Given the description of an element on the screen output the (x, y) to click on. 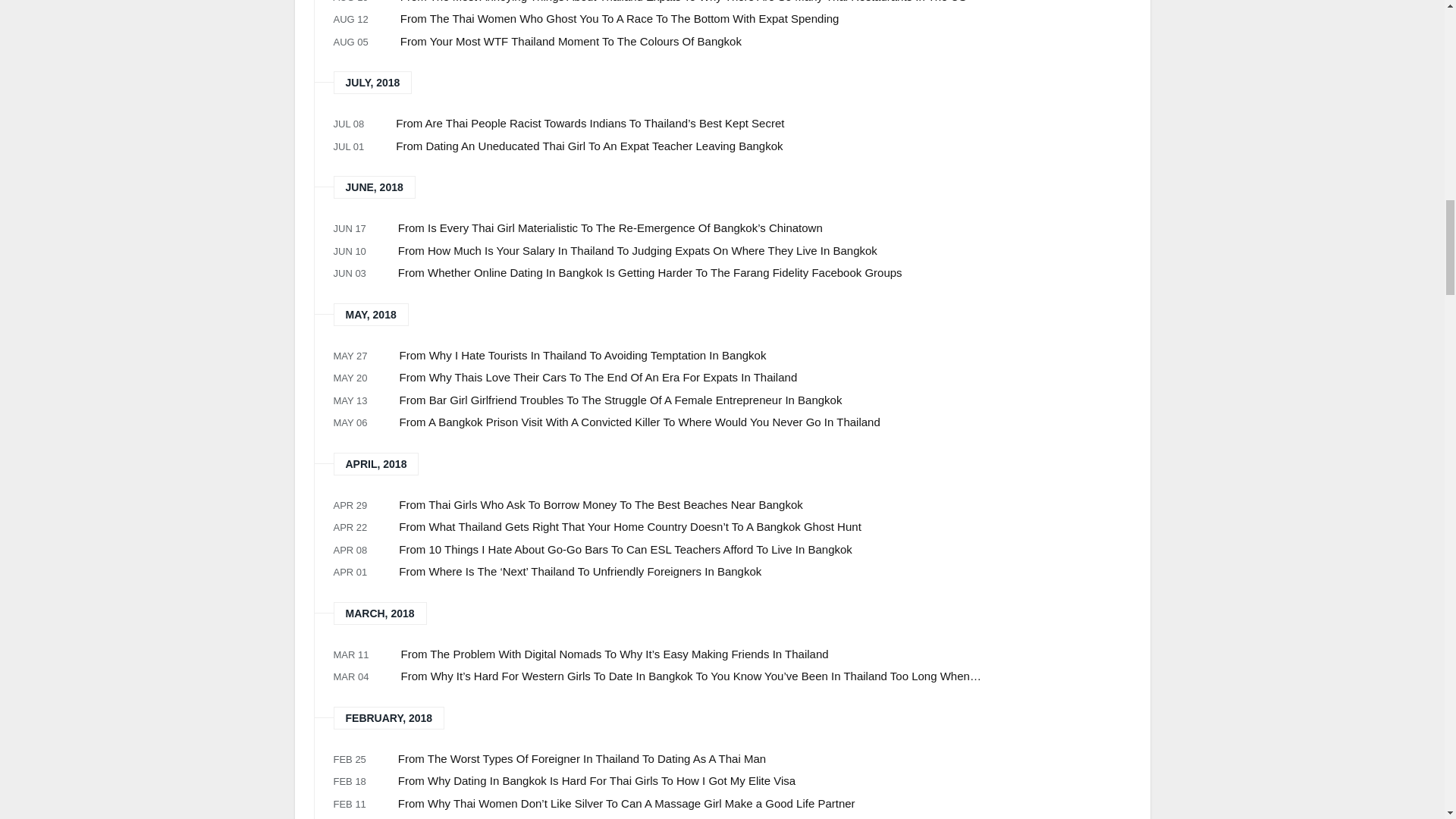
From Your Most WTF Thailand Moment To The Colours Of Bangkok (765, 41)
